Given the description of an element on the screen output the (x, y) to click on. 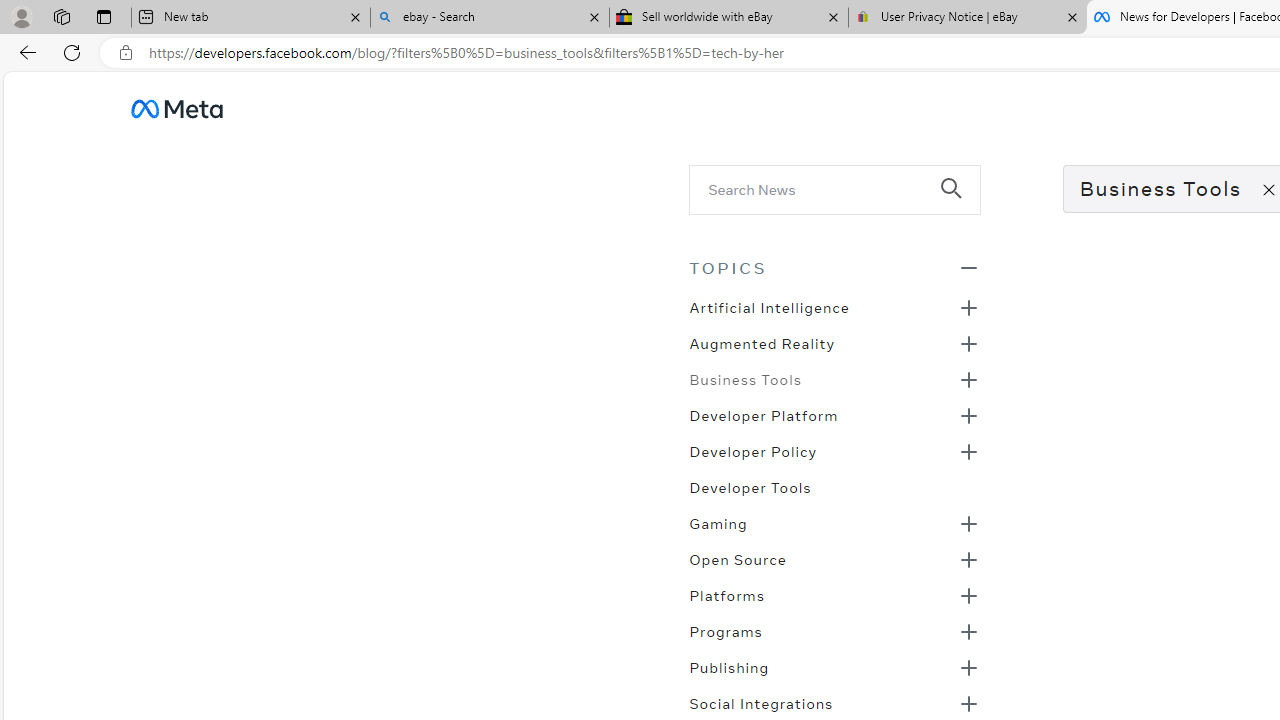
Augmented Reality (761, 341)
Developer Tools (749, 485)
Artificial Intelligence (768, 305)
Class: _9890 _98ey (834, 267)
Platforms (726, 593)
Sell worldwide with eBay (729, 17)
AutomationID: u_0_4z_2S (176, 107)
Publishing (729, 665)
Business Tools (745, 377)
